Given the description of an element on the screen output the (x, y) to click on. 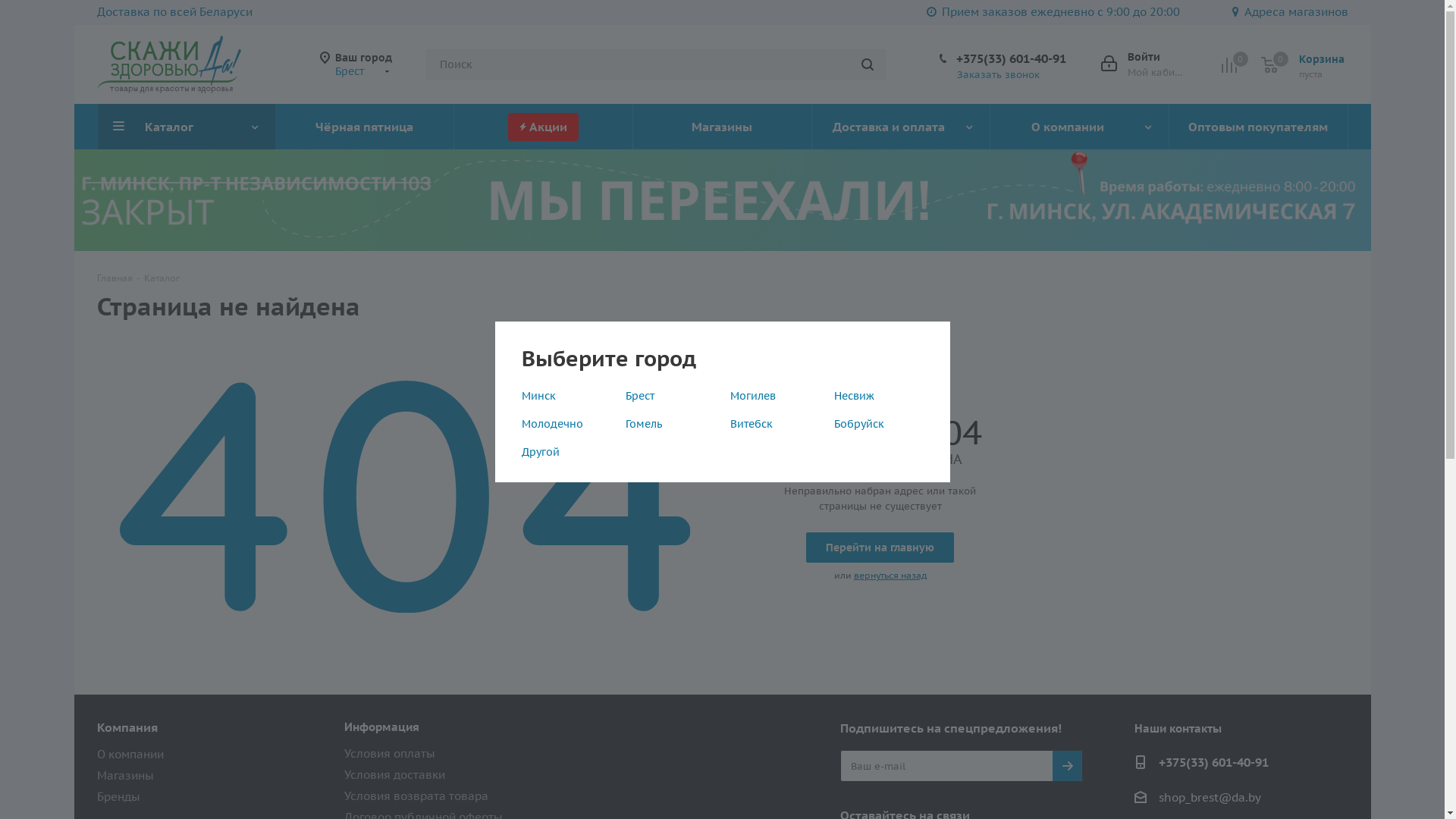
+375(33) 601-40-91 Element type: text (1213, 763)
shop_brest@da.by Element type: text (1209, 797)
+375(33) 601-40-91 Element type: text (1010, 57)
